Given the description of an element on the screen output the (x, y) to click on. 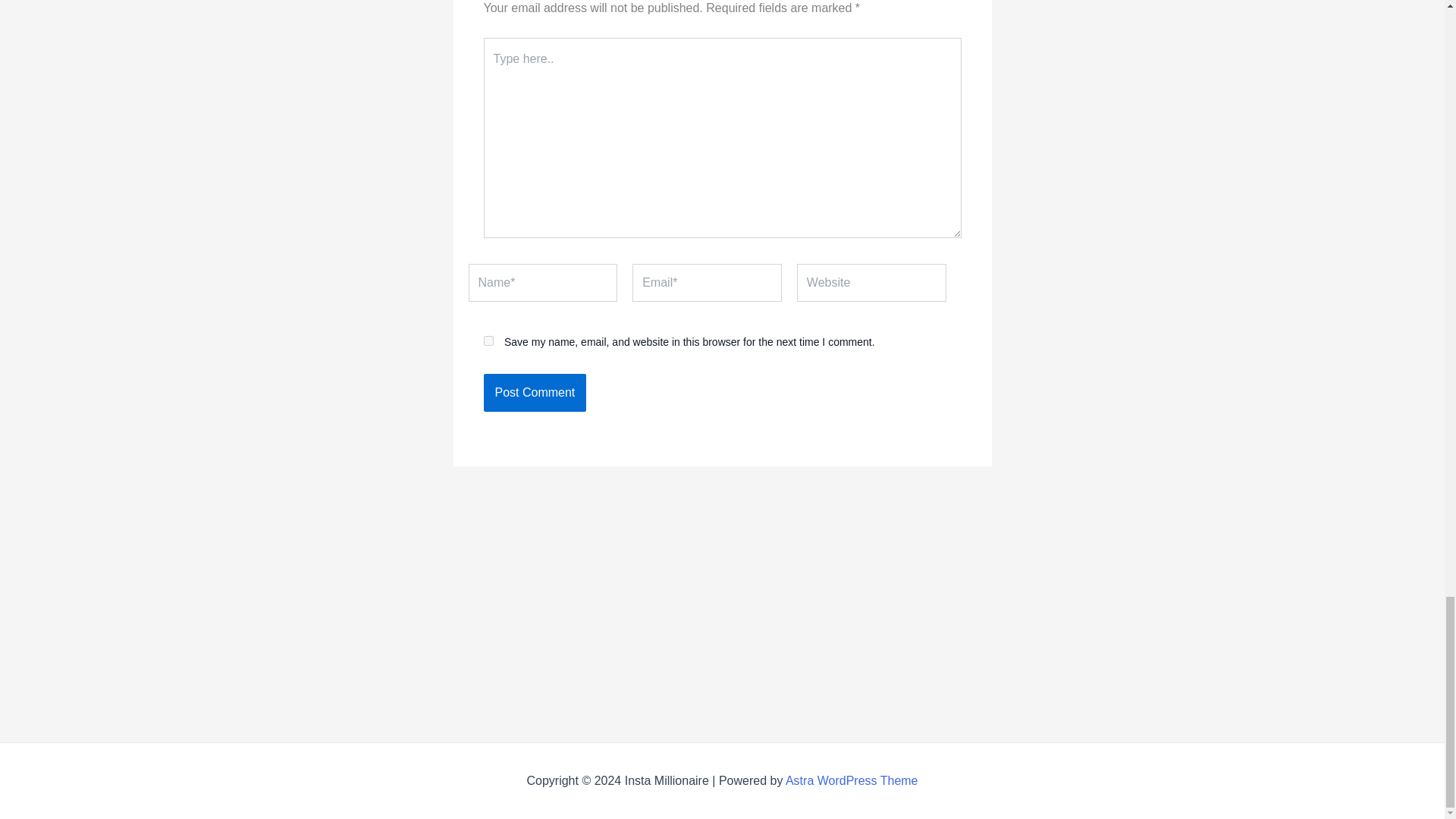
yes (488, 340)
Post Comment (534, 392)
Astra WordPress Theme (852, 780)
Post Comment (534, 392)
